Given the description of an element on the screen output the (x, y) to click on. 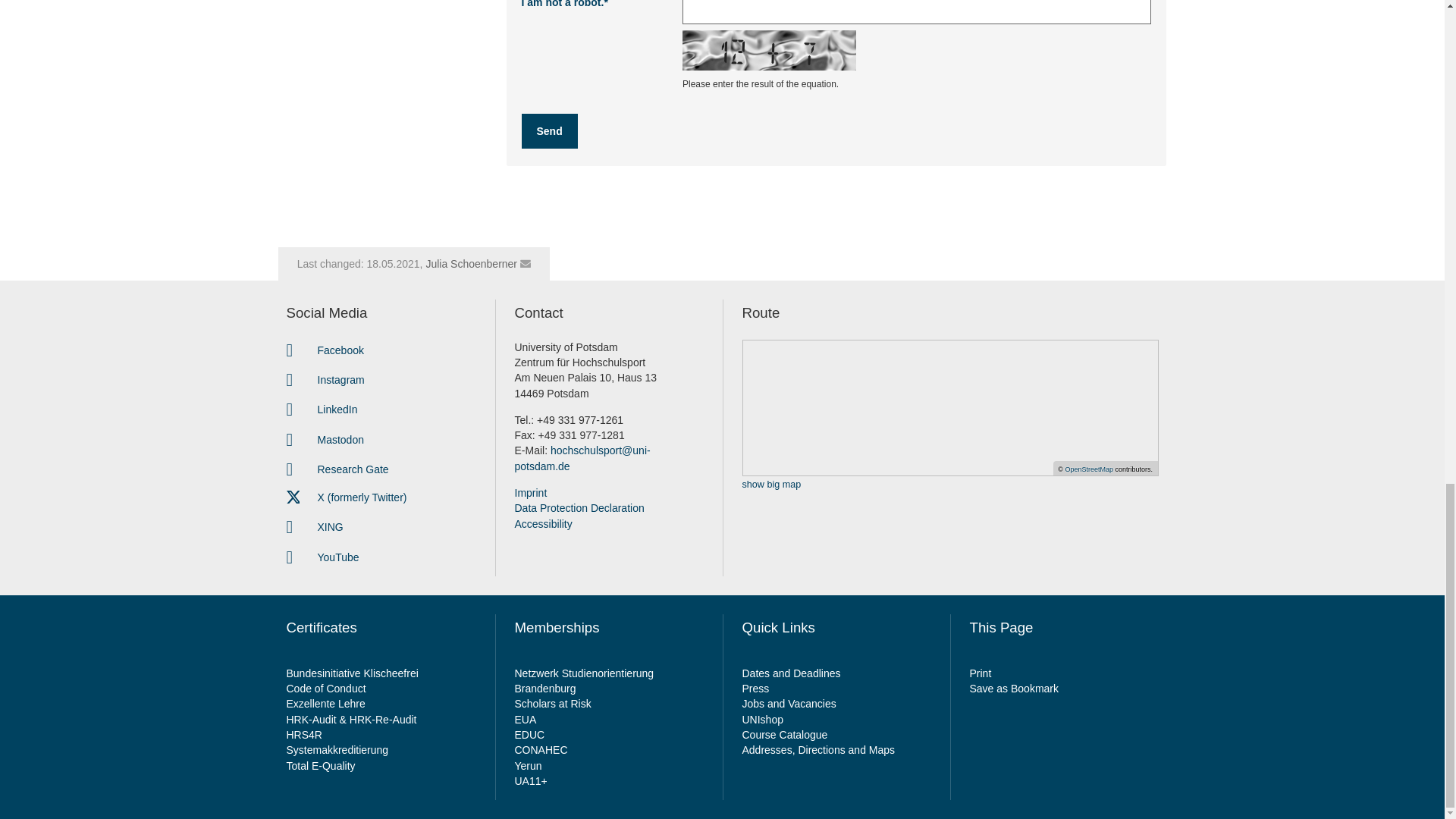
Send (549, 130)
